Given the description of an element on the screen output the (x, y) to click on. 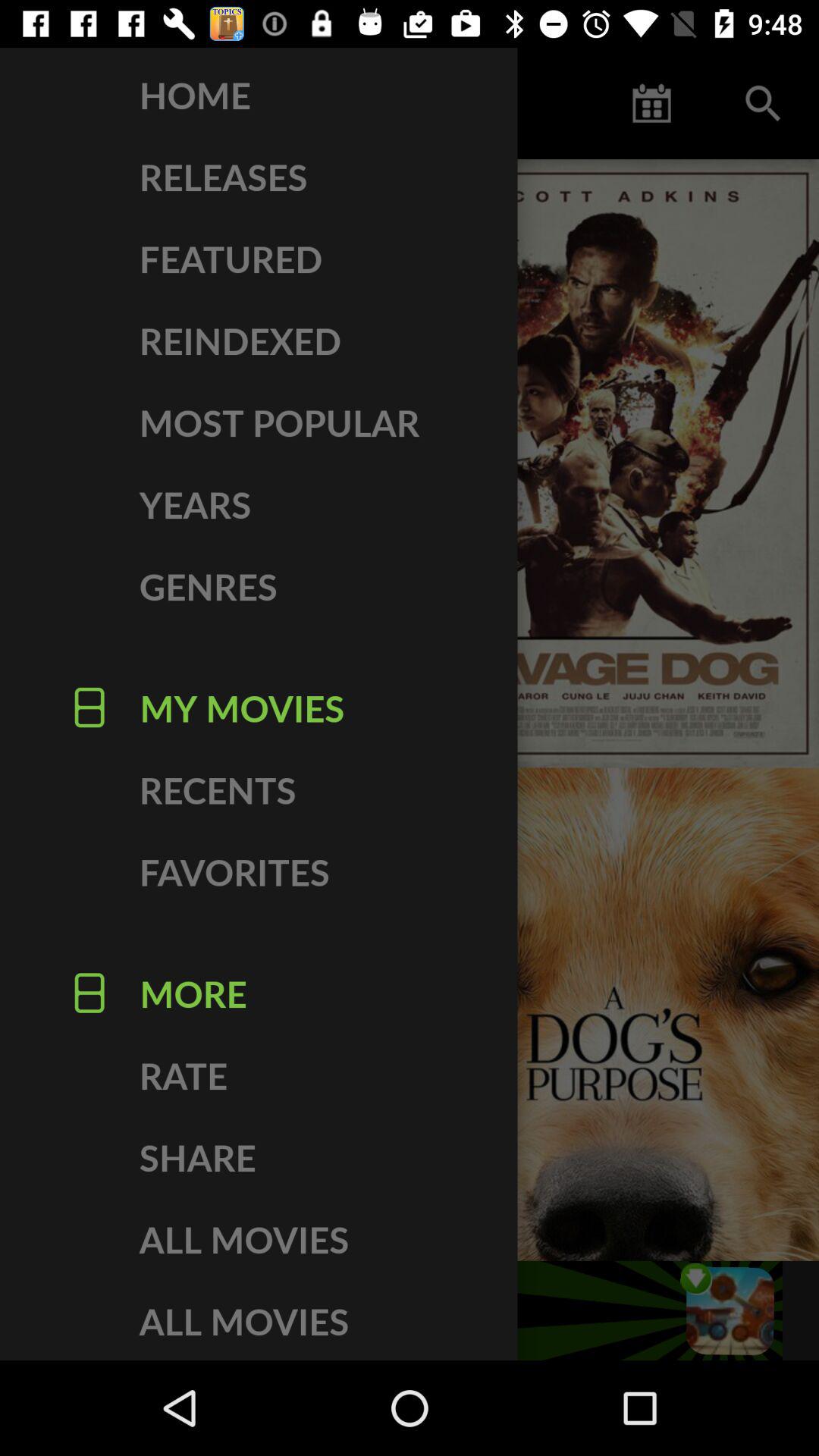
select a option  with a text a dogs purpose on a page (614, 1014)
